Given the description of an element on the screen output the (x, y) to click on. 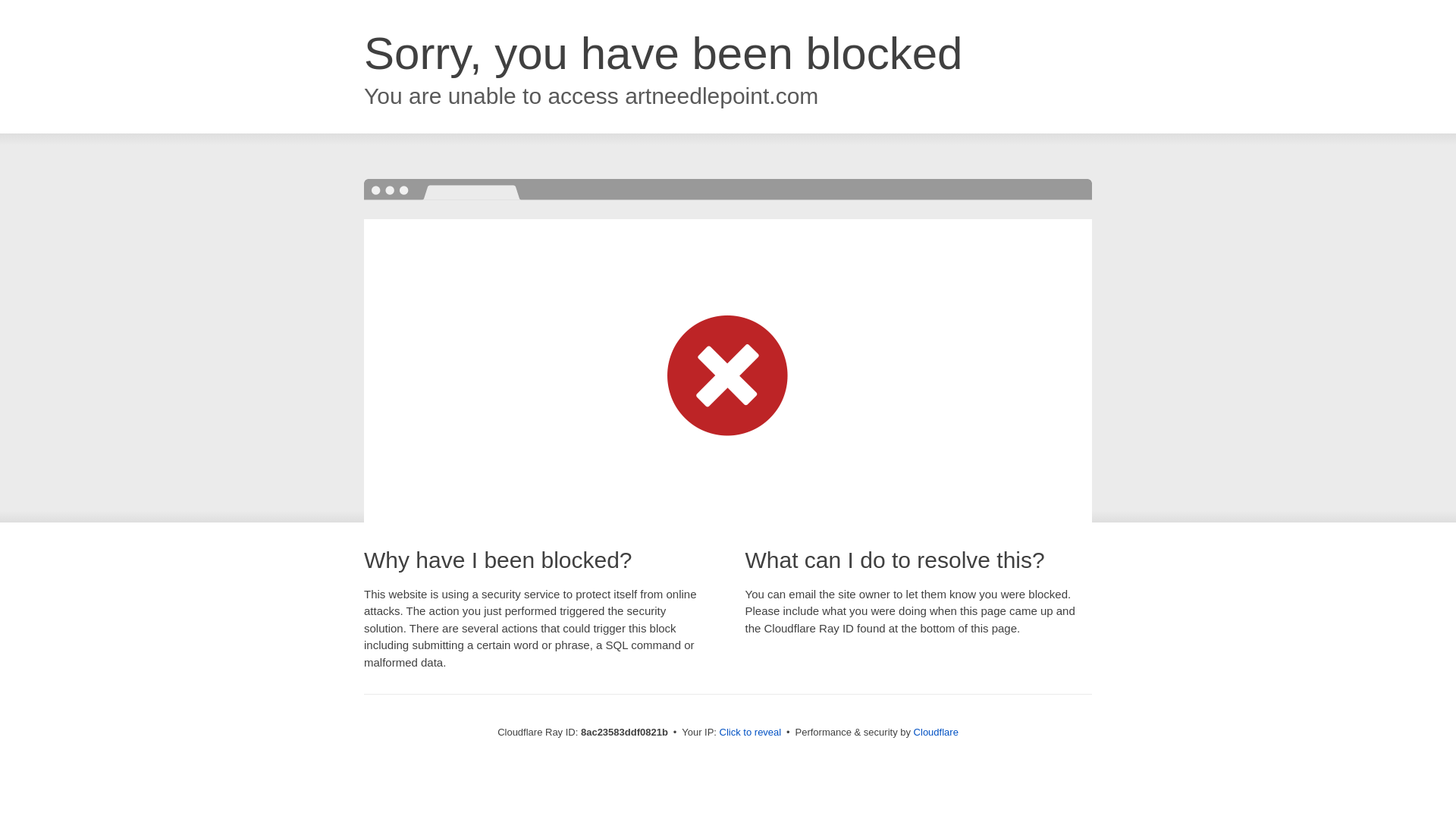
Click to reveal (750, 732)
Cloudflare (936, 731)
